Given the description of an element on the screen output the (x, y) to click on. 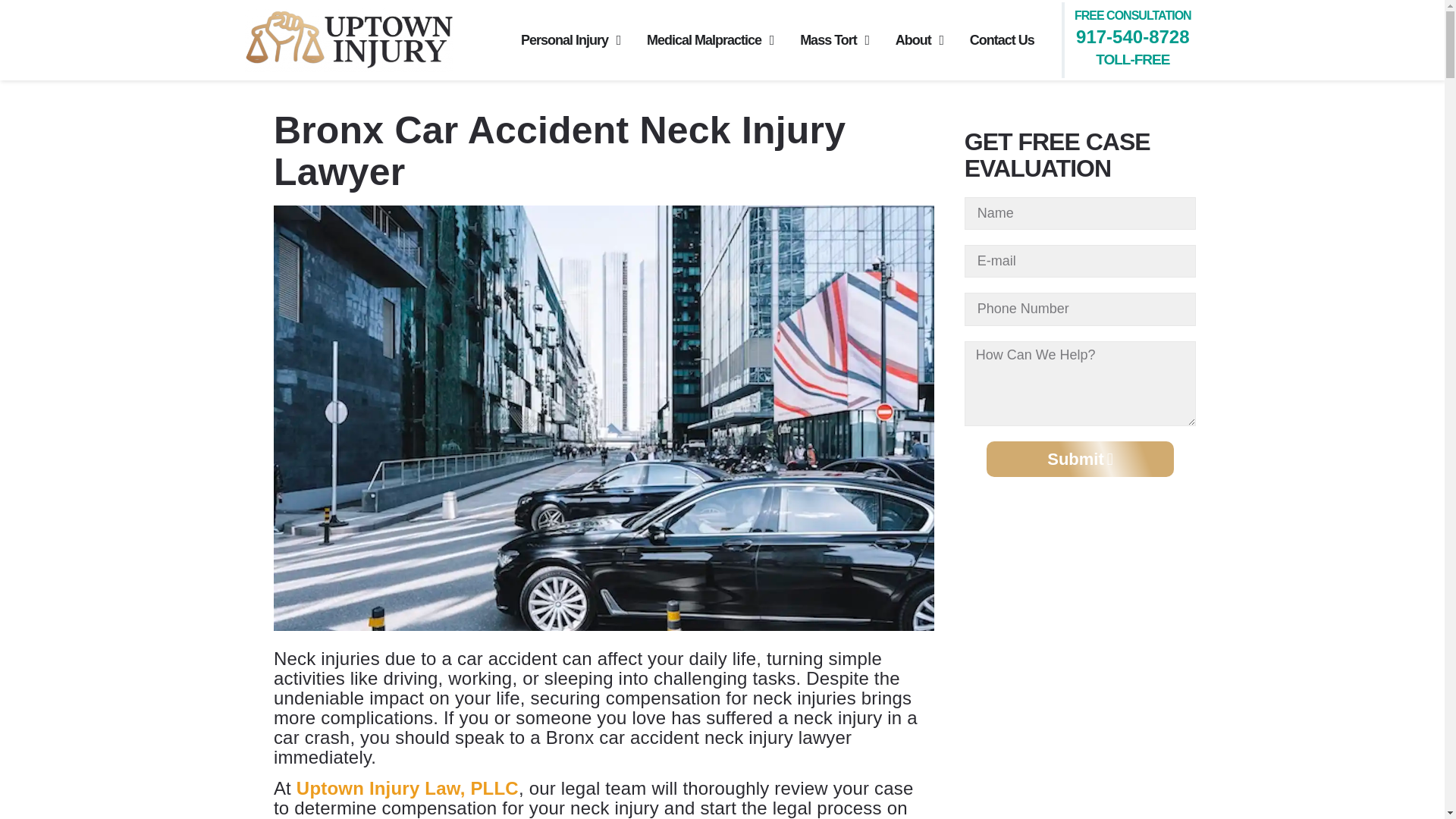
FREE CONSULTATION (1132, 15)
Contact Us (1001, 40)
